Given the description of an element on the screen output the (x, y) to click on. 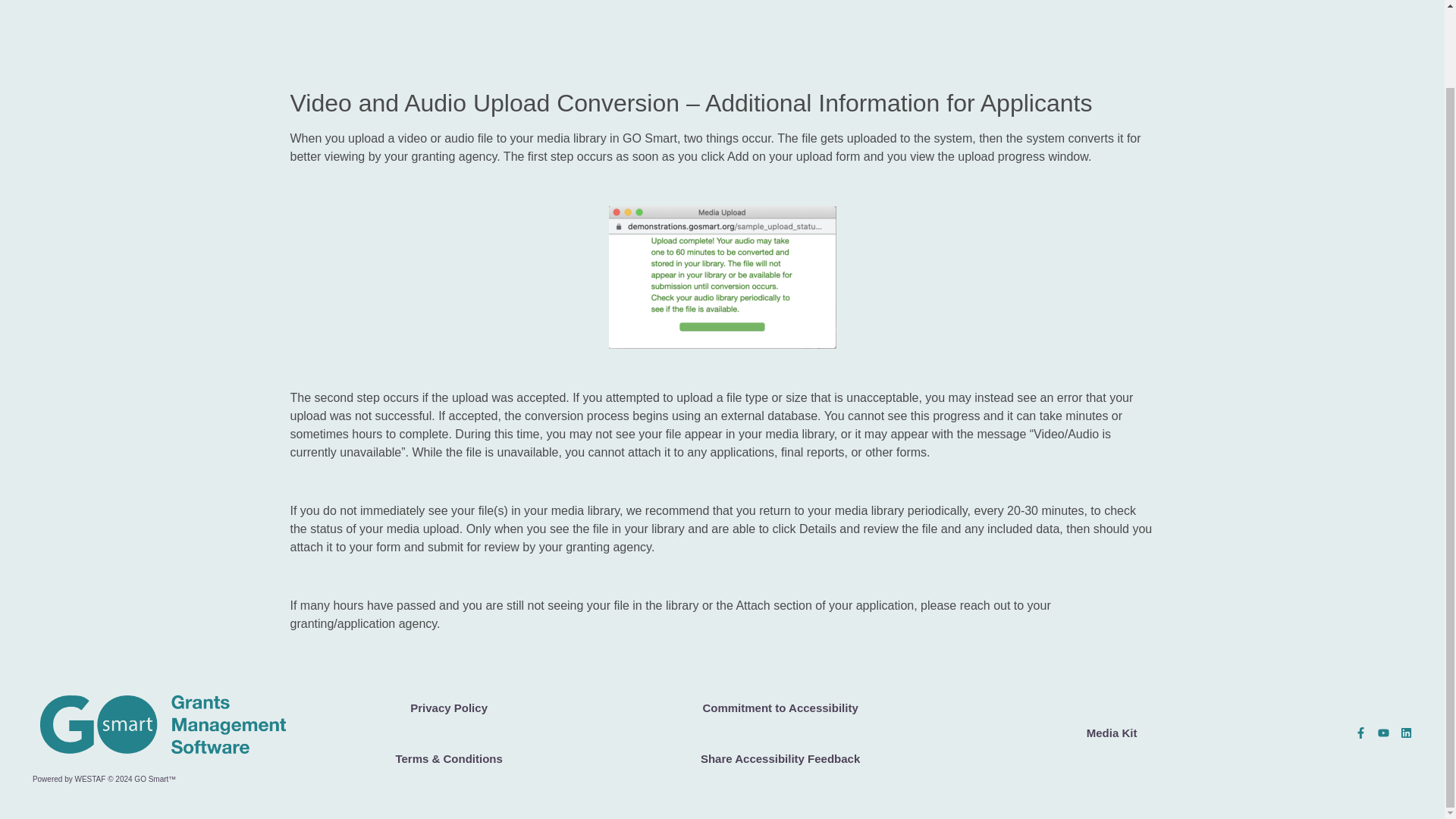
Commitment to Accessibility (779, 707)
Media Kit (1111, 732)
Share Accessibility Feedback (779, 758)
Privacy Policy (449, 707)
